Given the description of an element on the screen output the (x, y) to click on. 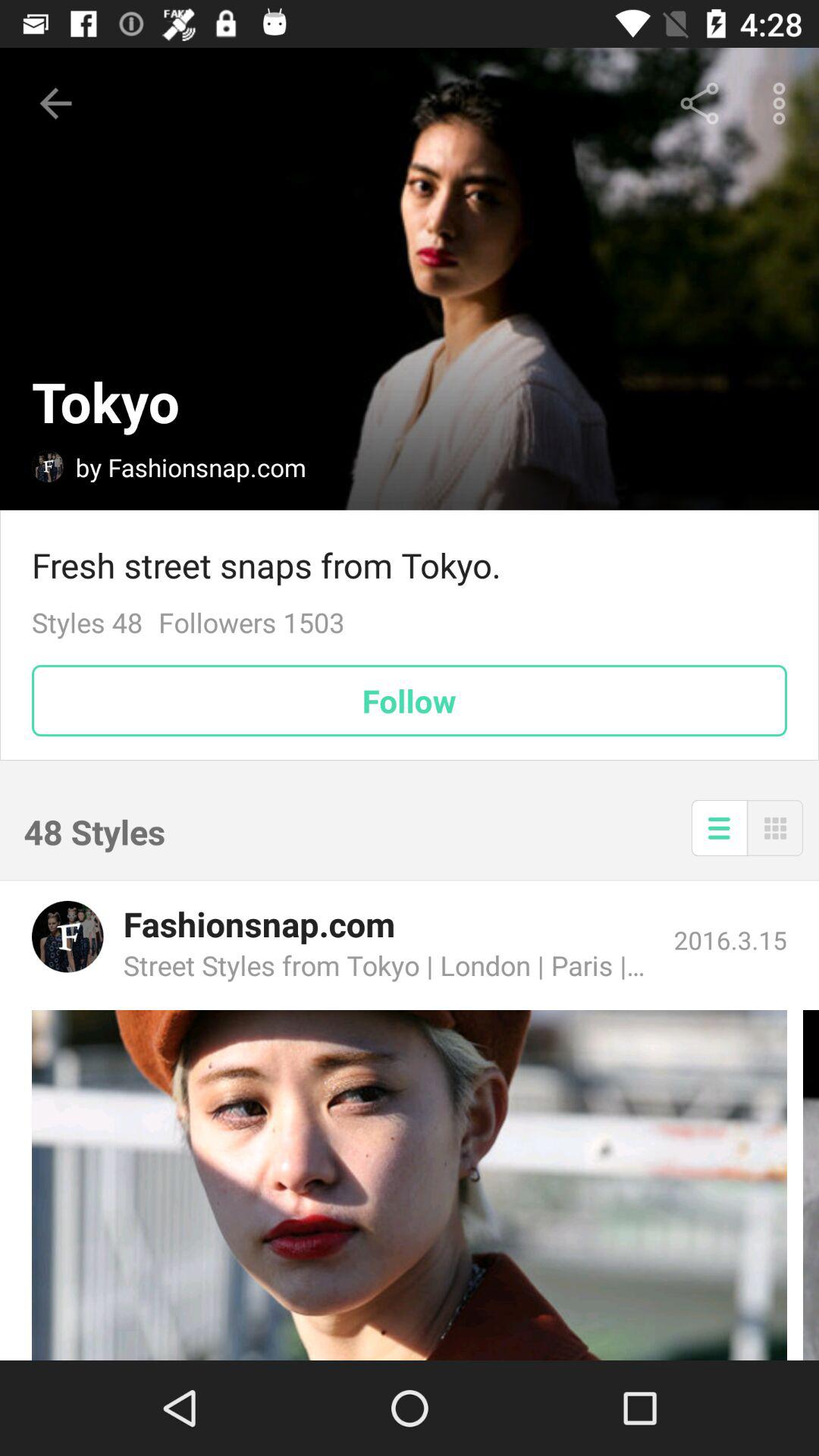
view image (409, 1185)
